Given the description of an element on the screen output the (x, y) to click on. 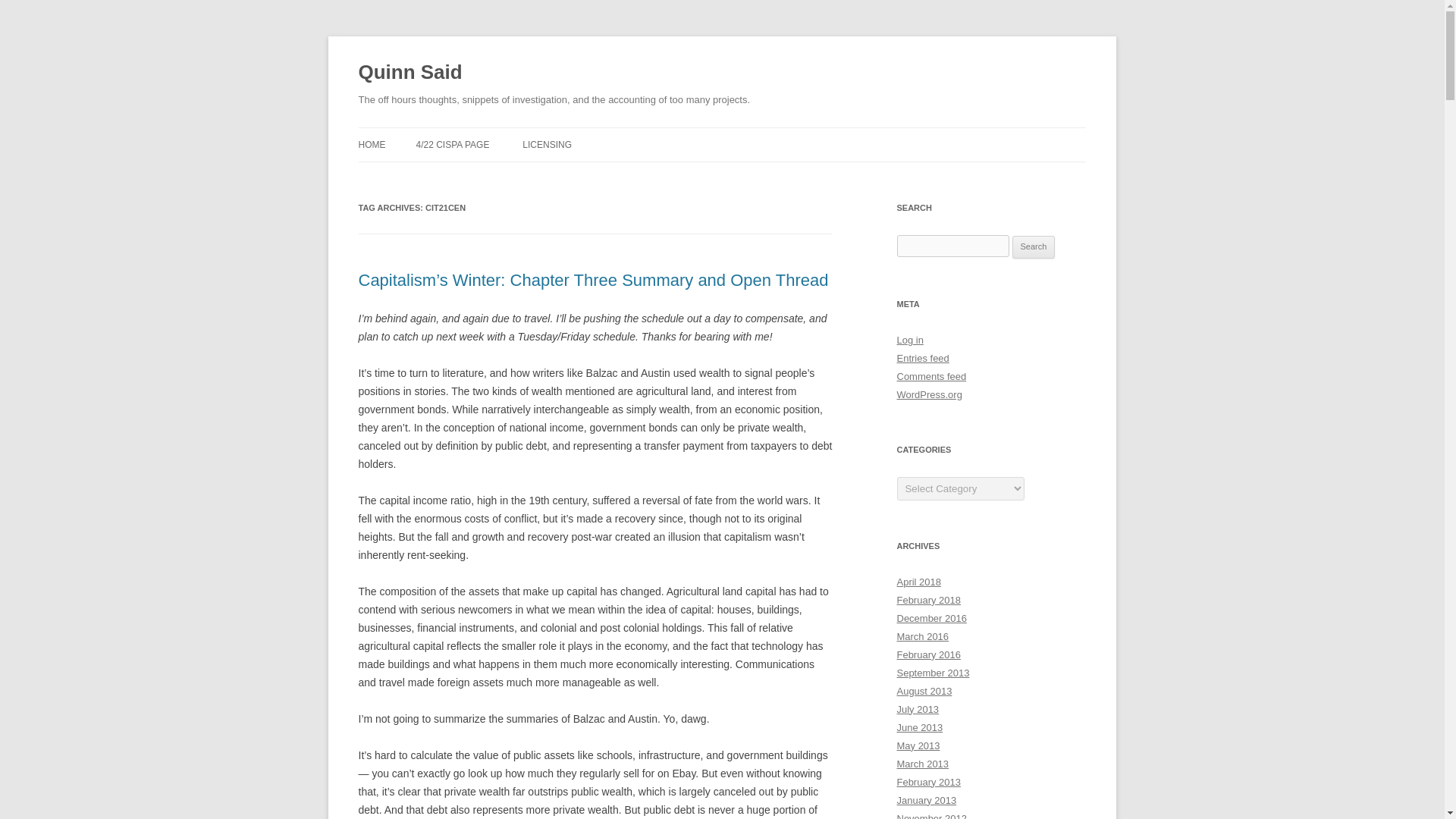
LICENSING (547, 144)
Quinn Said (409, 72)
Search (1033, 246)
